Given the description of an element on the screen output the (x, y) to click on. 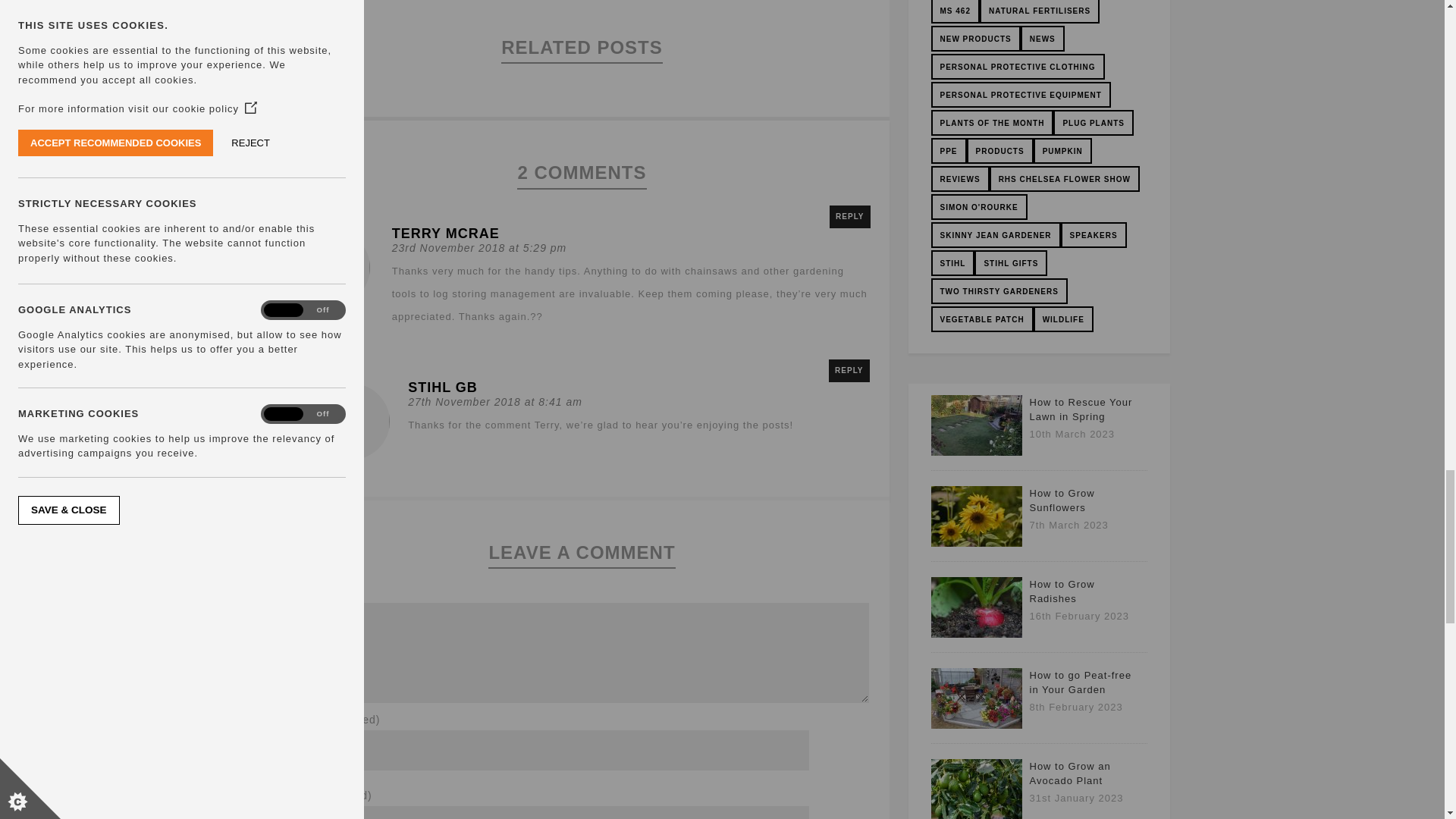
Permanent Link to How to Grow Radishes (1061, 591)
Permanent Link to How to Rescue Your Lawn in Spring (1080, 409)
Permanent Link to How to Grow Sunflowers (1061, 500)
Permanent Link to How to Rescue Your Lawn in Spring (976, 451)
Permanent Link to How to Grow Radishes (976, 633)
Permanent Link to How to Grow Sunflowers (976, 542)
